Given the description of an element on the screen output the (x, y) to click on. 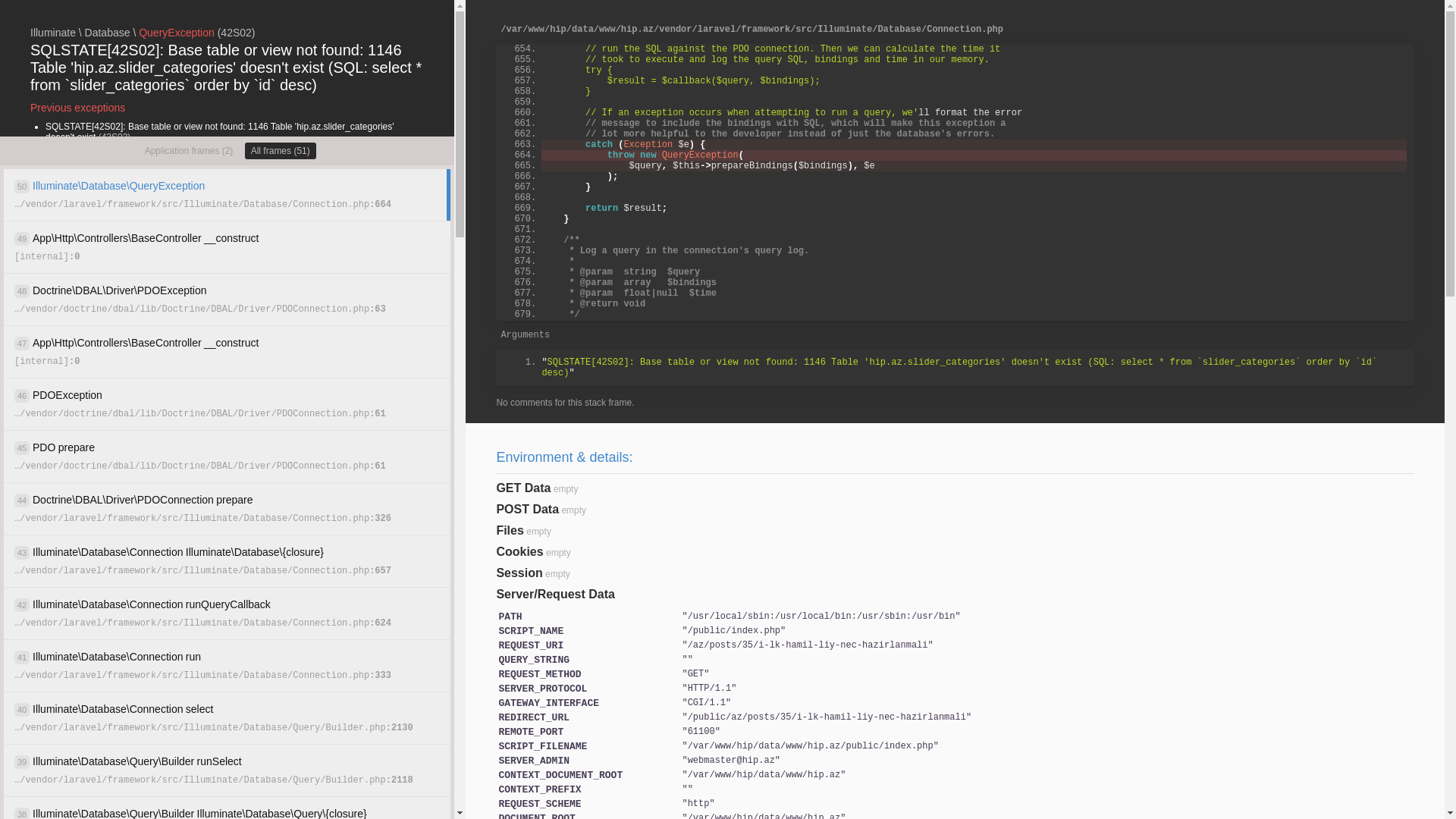
Application frames (2) Element type: text (188, 150)
All frames (51) Element type: text (280, 150)
